Given the description of an element on the screen output the (x, y) to click on. 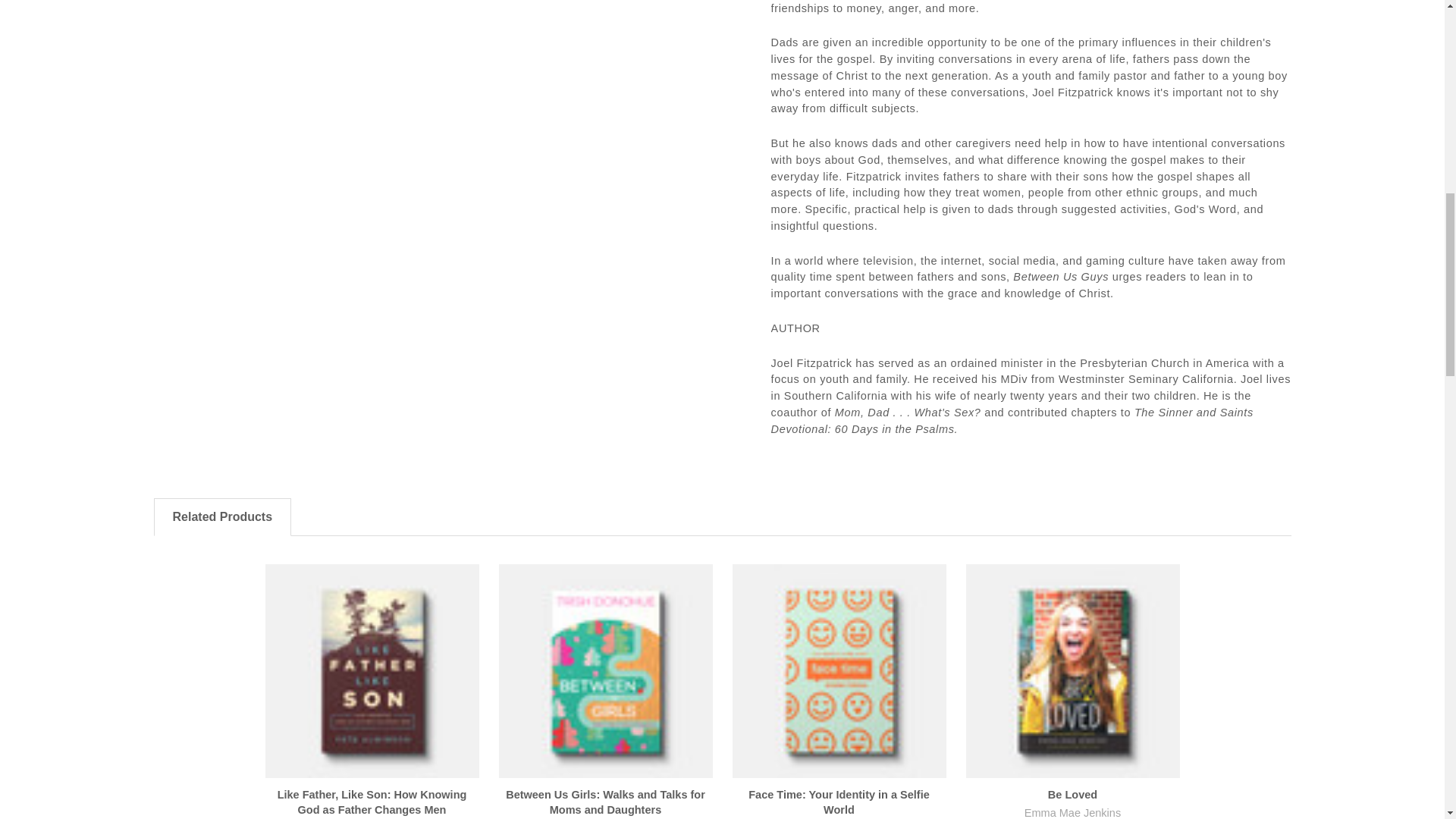
Face Time: Your Identity in a Selfie World (839, 671)
Between Us Girls: Walks and Talks for Moms and Daughters (606, 671)
Be Loved (1072, 671)
